Given the description of an element on the screen output the (x, y) to click on. 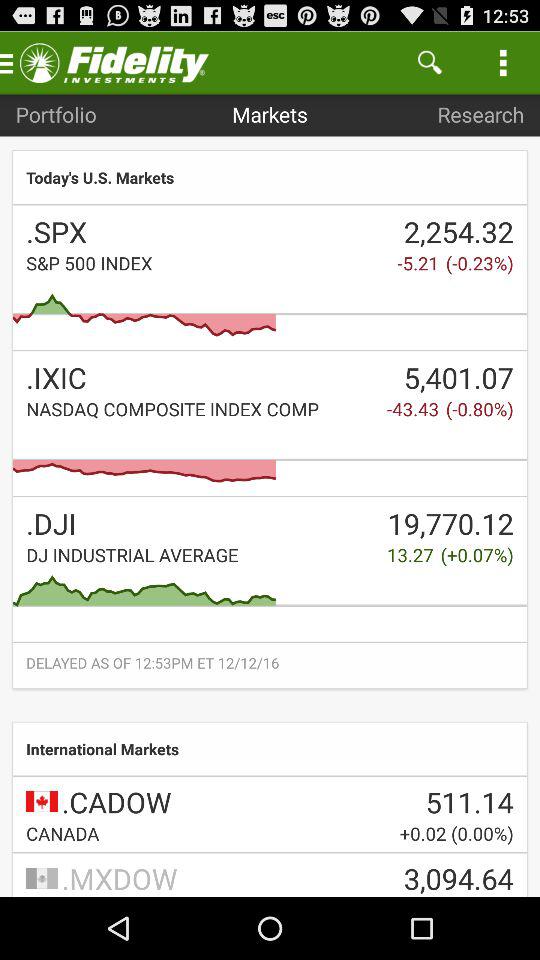
choose the icon above research app (503, 62)
